Given the description of an element on the screen output the (x, y) to click on. 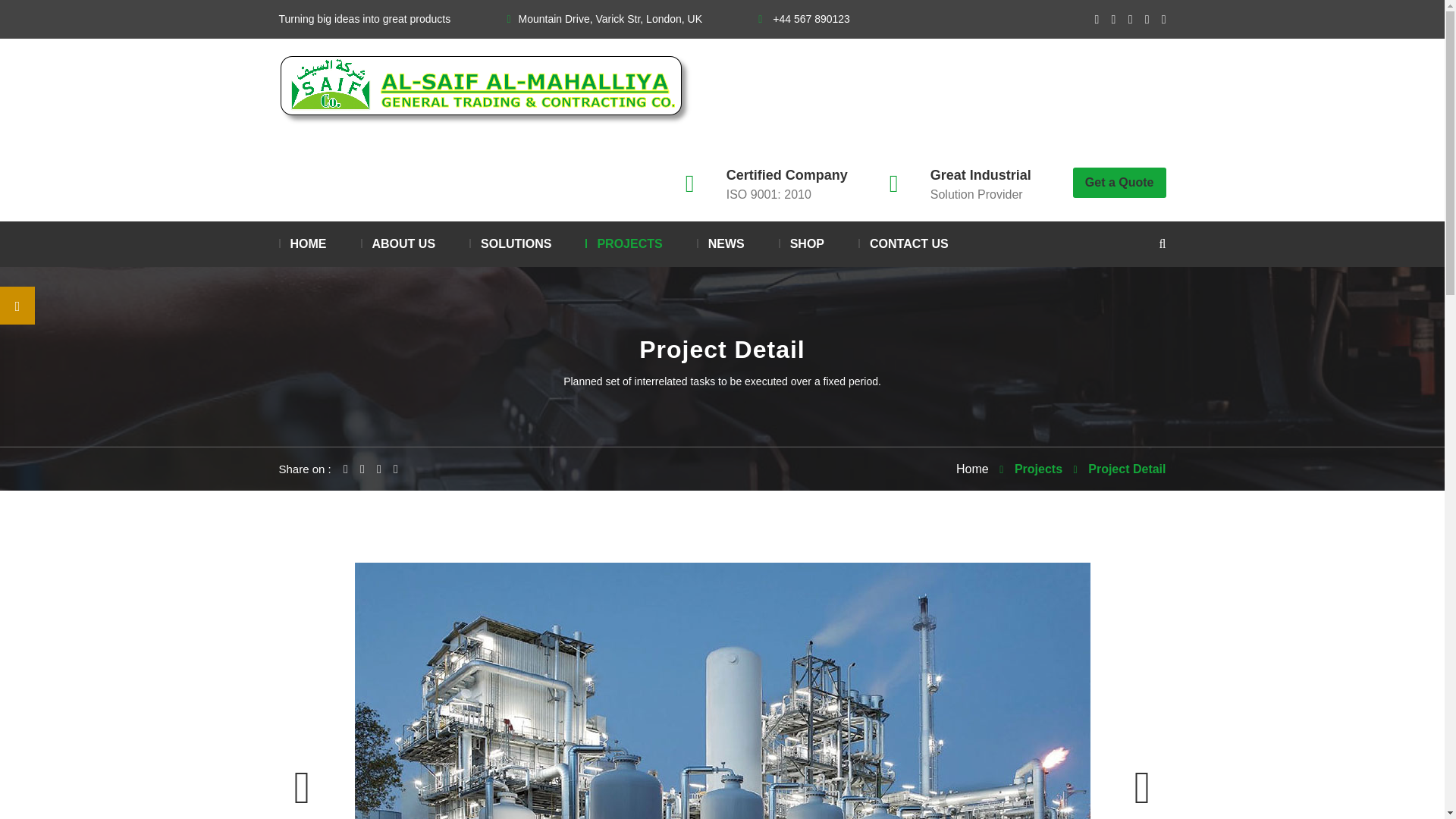
Mountain Drive, Varick Str, London, UK (603, 19)
Get a Quote (1119, 182)
NEWS (720, 243)
SOLUTIONS (509, 243)
ABOUT US (398, 243)
CONTACT US (904, 243)
PROJECTS (623, 243)
HOME (302, 243)
SHOP (801, 243)
